Given the description of an element on the screen output the (x, y) to click on. 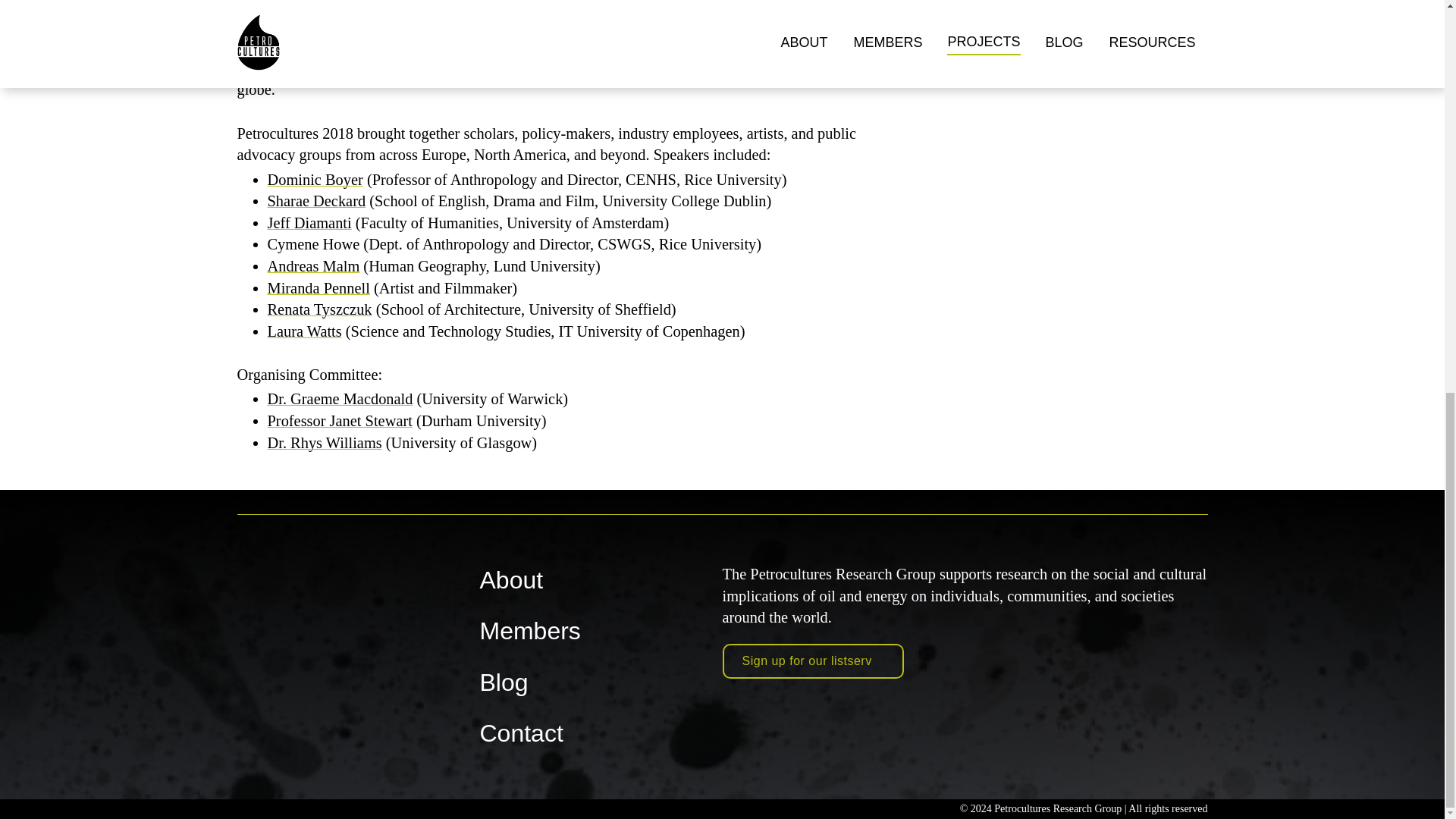
Andreas Malm (312, 265)
Dominic Boyer (314, 179)
Dr. Graeme Macdonald (339, 398)
Sharae Deckard (315, 200)
Jeff Diamanti (308, 222)
About (511, 580)
Dr. Rhys Williams (323, 442)
Miranda Pennell (317, 288)
Renata Tyszczuk (318, 309)
Members (529, 631)
